Given the description of an element on the screen output the (x, y) to click on. 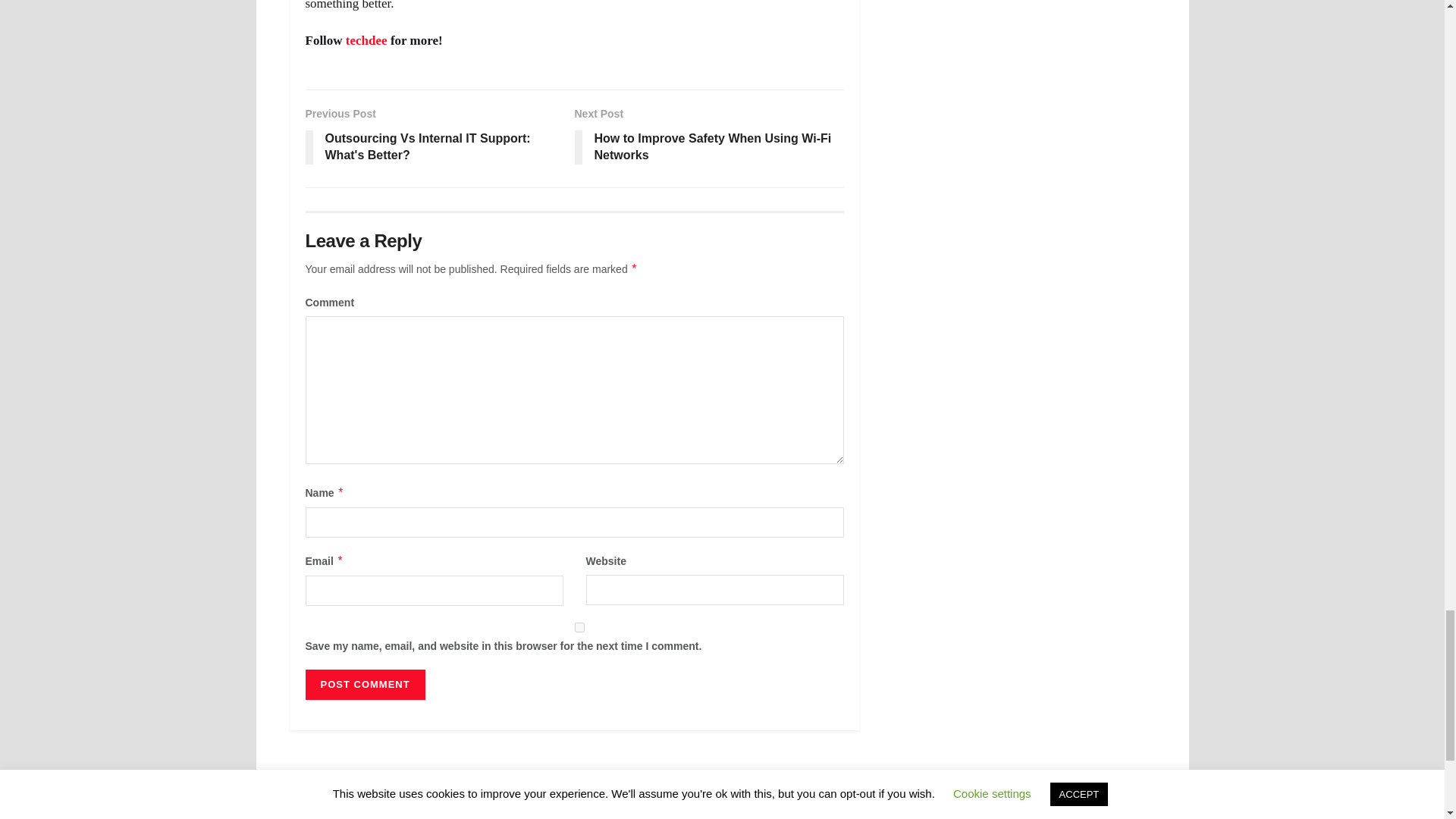
Post Comment (364, 684)
yes (580, 627)
